Given the description of an element on the screen output the (x, y) to click on. 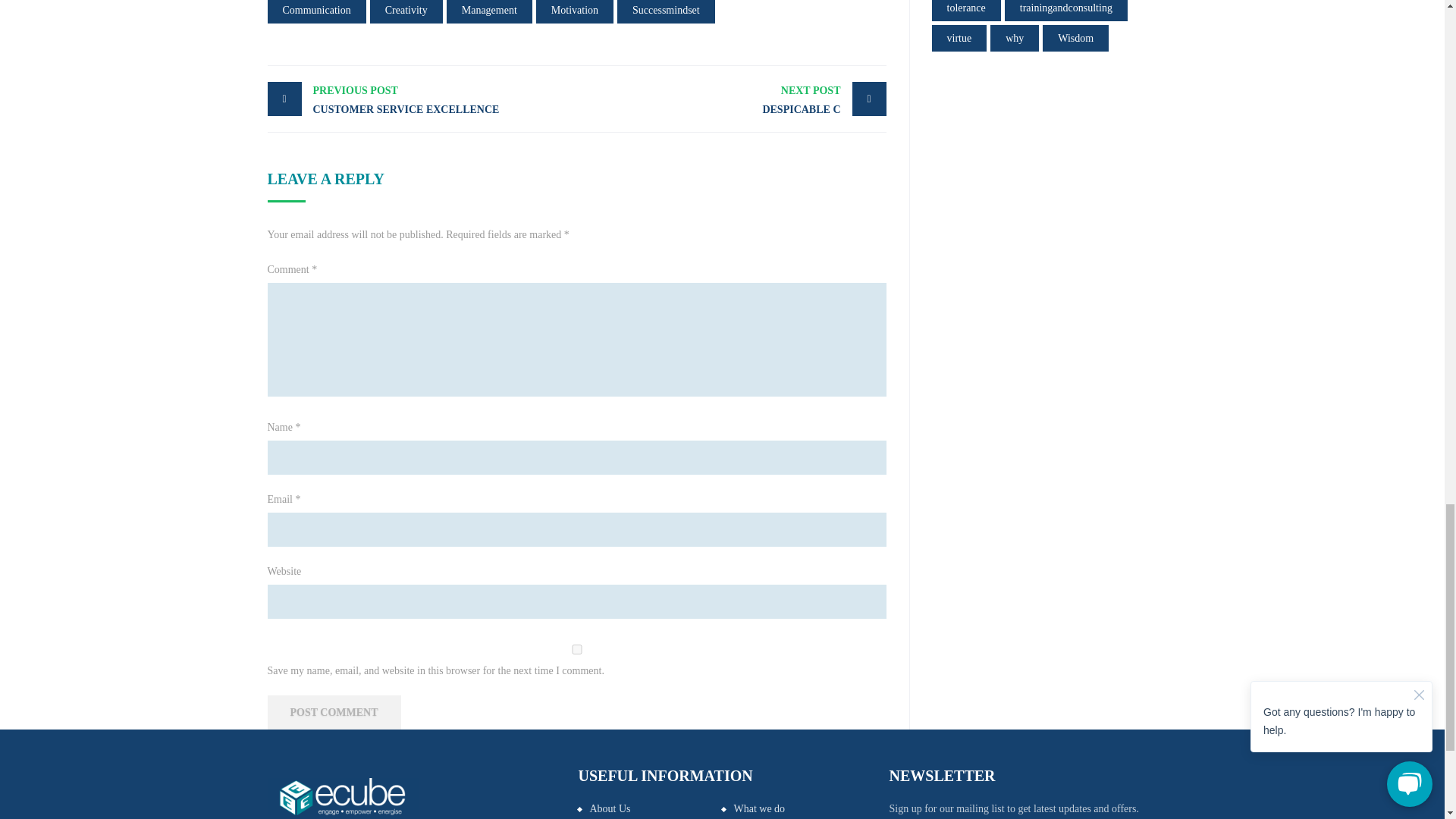
yes (575, 649)
Post Comment (333, 712)
